Given the description of an element on the screen output the (x, y) to click on. 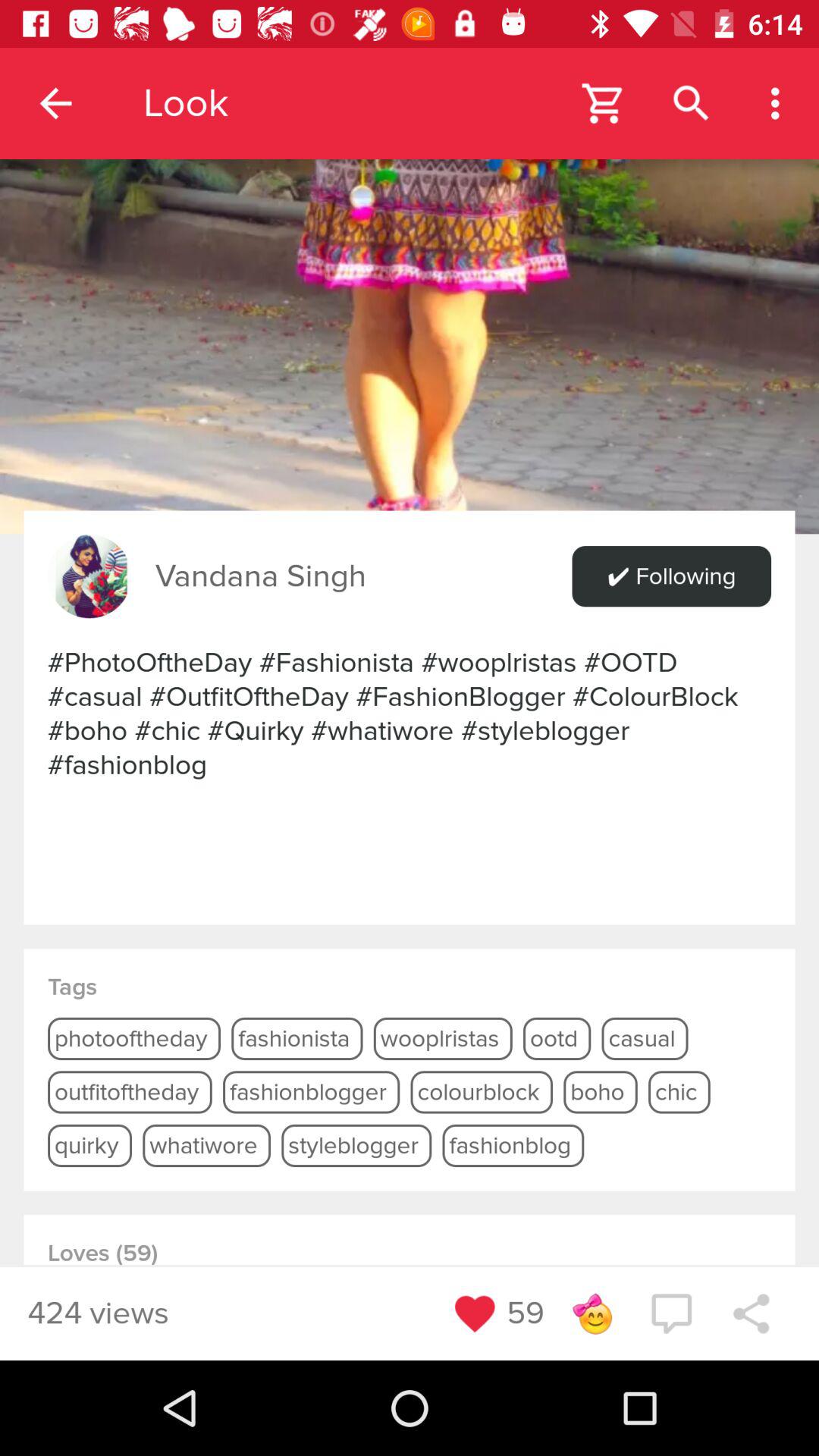
choose item next to the vandana singh (671, 576)
